Given the description of an element on the screen output the (x, y) to click on. 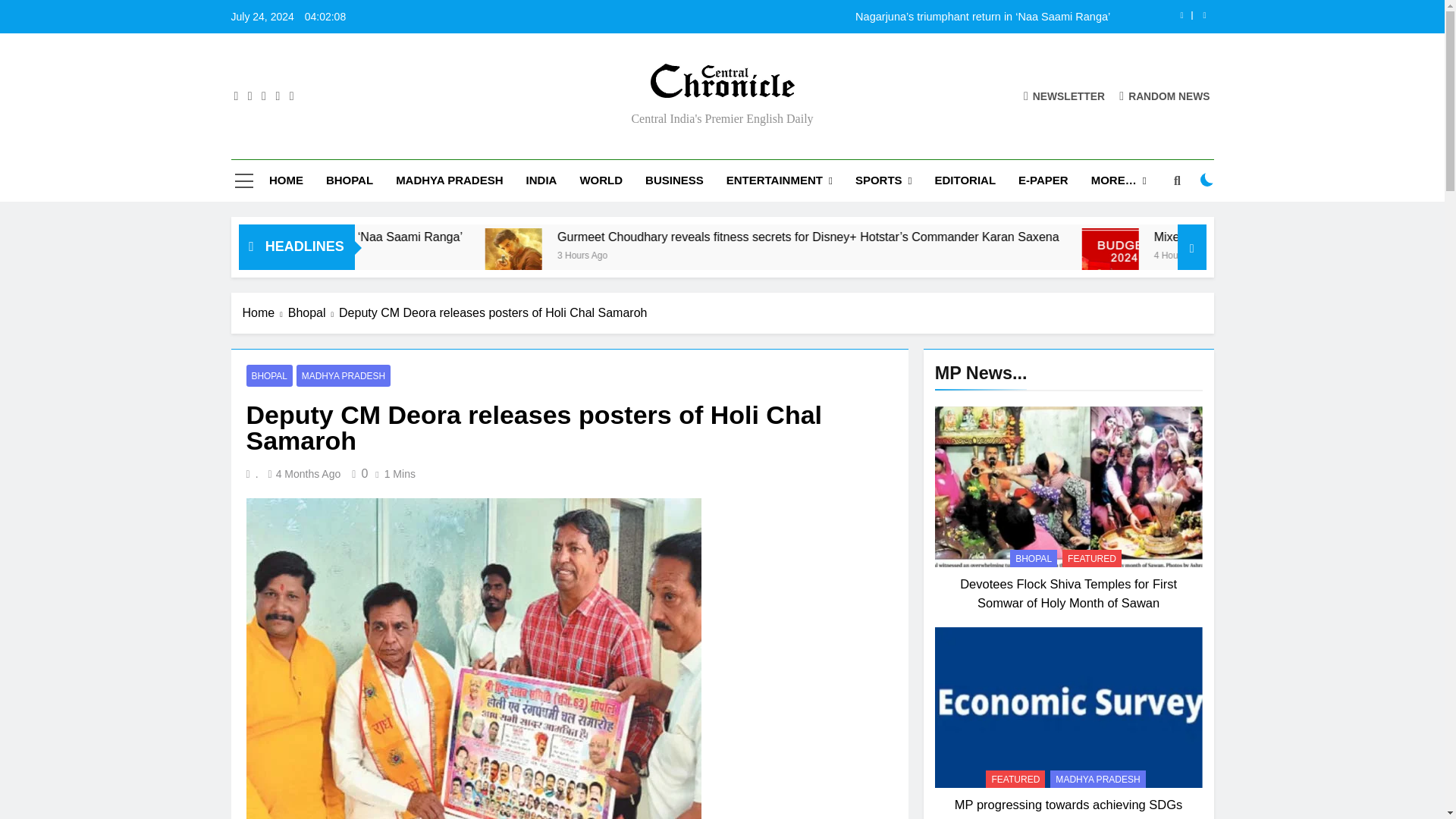
WORLD (600, 179)
BHOPAL (349, 179)
HOME (285, 179)
NEWSLETTER (1064, 95)
on (1206, 179)
INDIA (542, 179)
MADHYA PRADESH (448, 179)
ENTERTAINMENT (779, 180)
SPORTS (883, 180)
Central India'S Premier English Daily (560, 109)
RANDOM NEWS (1164, 95)
BUSINESS (673, 179)
